Given the description of an element on the screen output the (x, y) to click on. 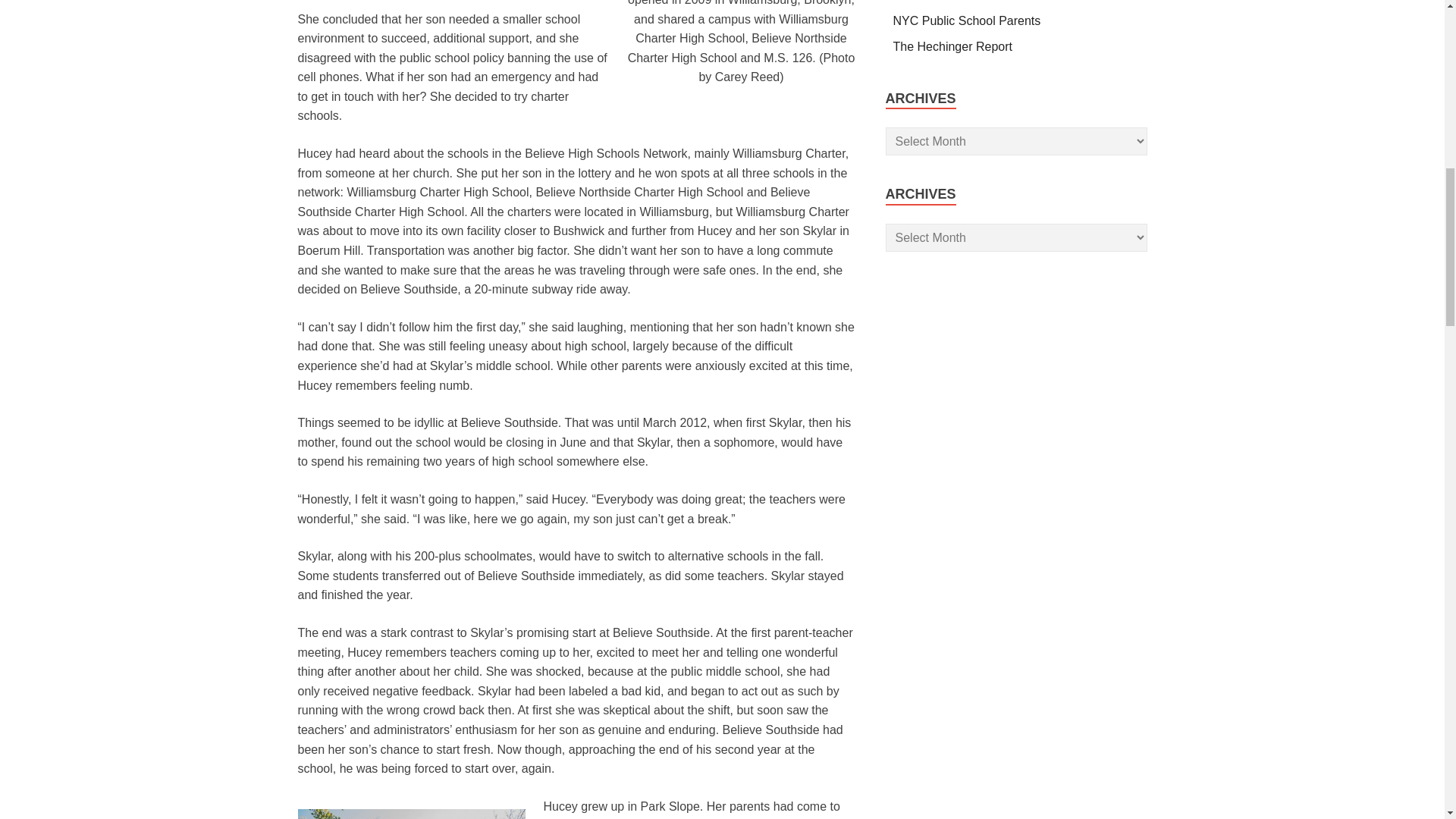
Williamsburg Prep (410, 814)
